Given the description of an element on the screen output the (x, y) to click on. 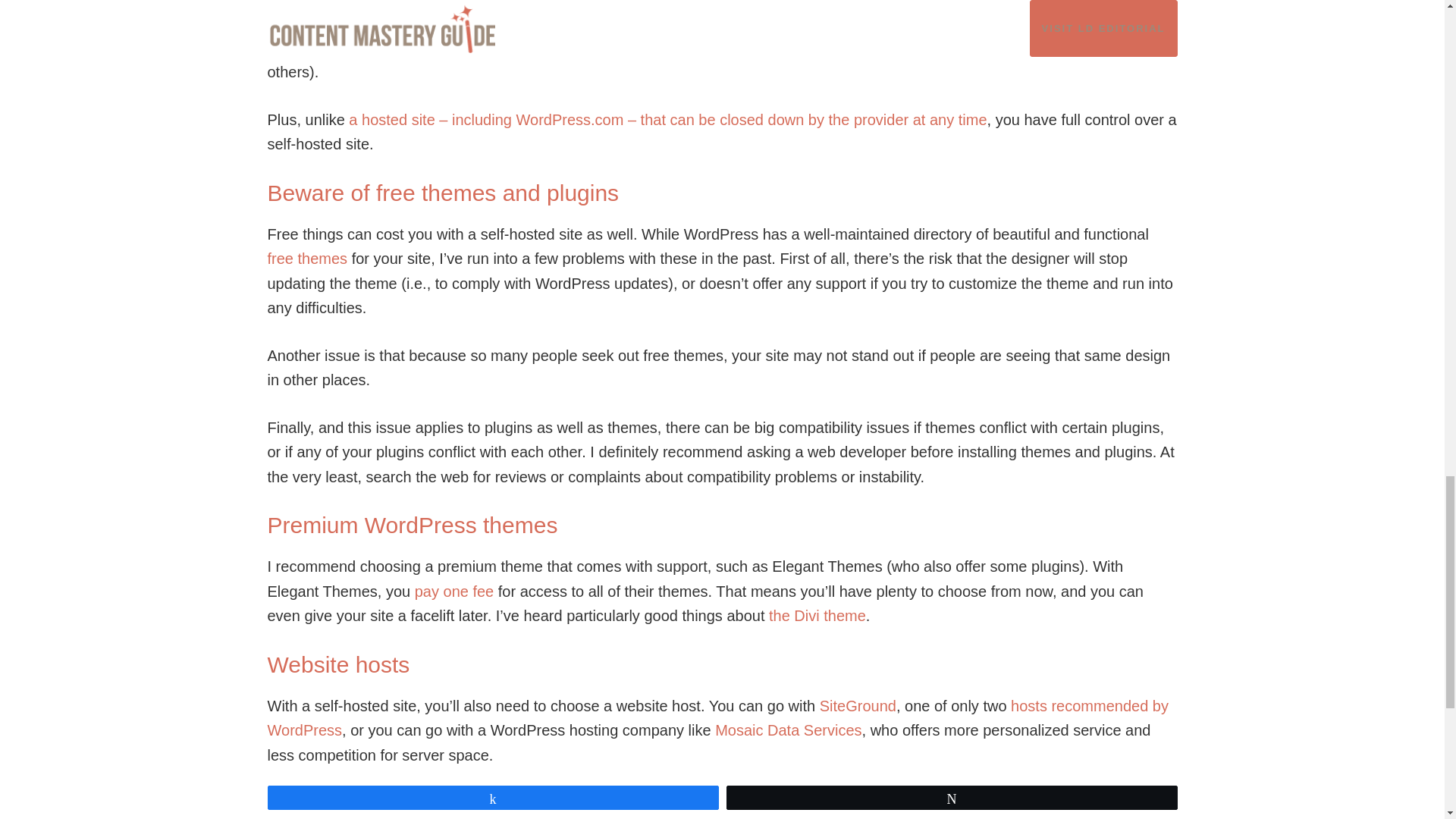
hosts recommended by WordPress (716, 718)
the Divi theme (817, 615)
Mosaic Data Services (787, 729)
pay one fee (454, 591)
SiteGround (857, 705)
Link opens in new window (716, 718)
free themes (306, 258)
